Given the description of an element on the screen output the (x, y) to click on. 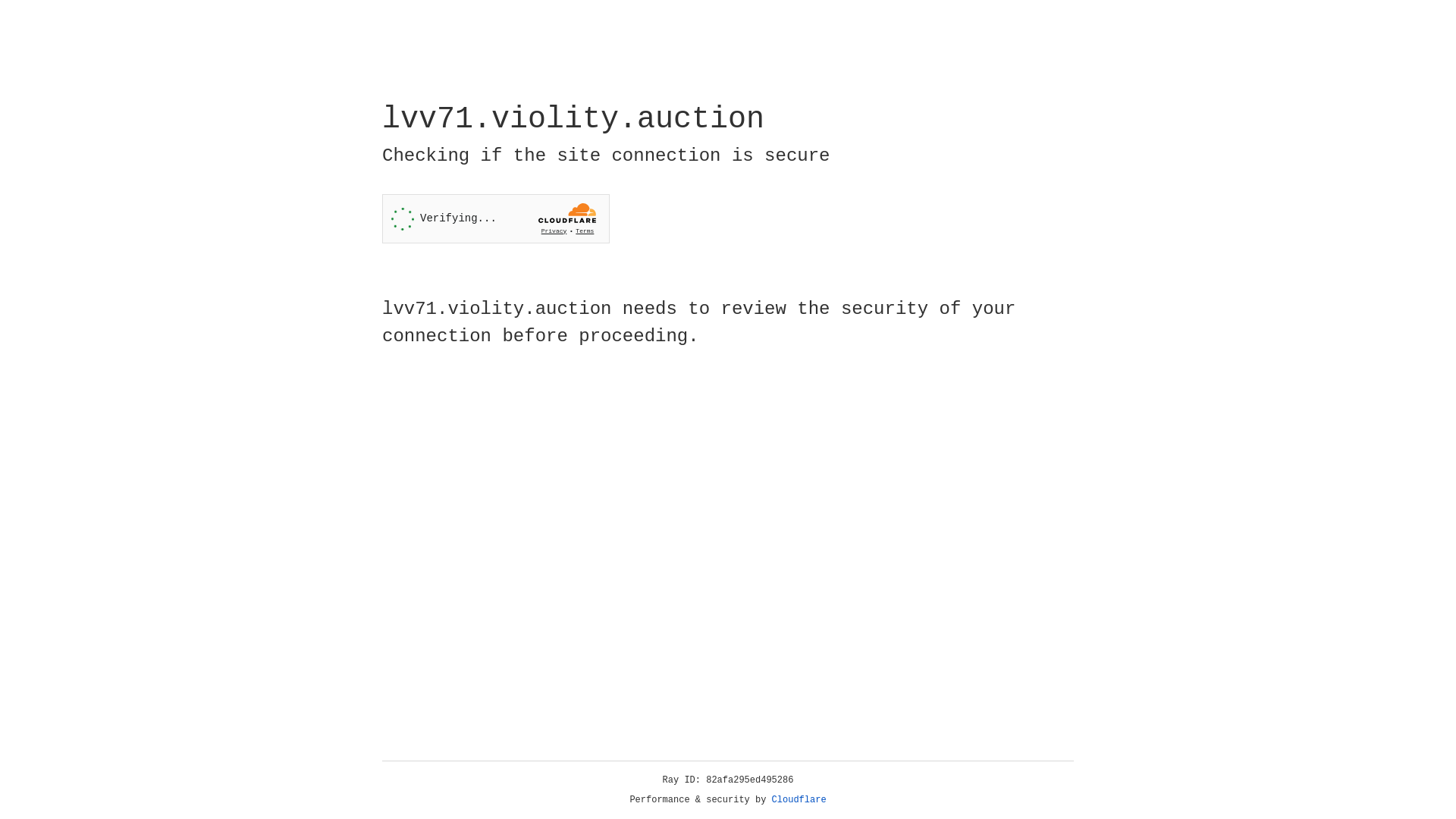
Cloudflare Element type: text (798, 799)
Widget containing a Cloudflare security challenge Element type: hover (495, 218)
